Given the description of an element on the screen output the (x, y) to click on. 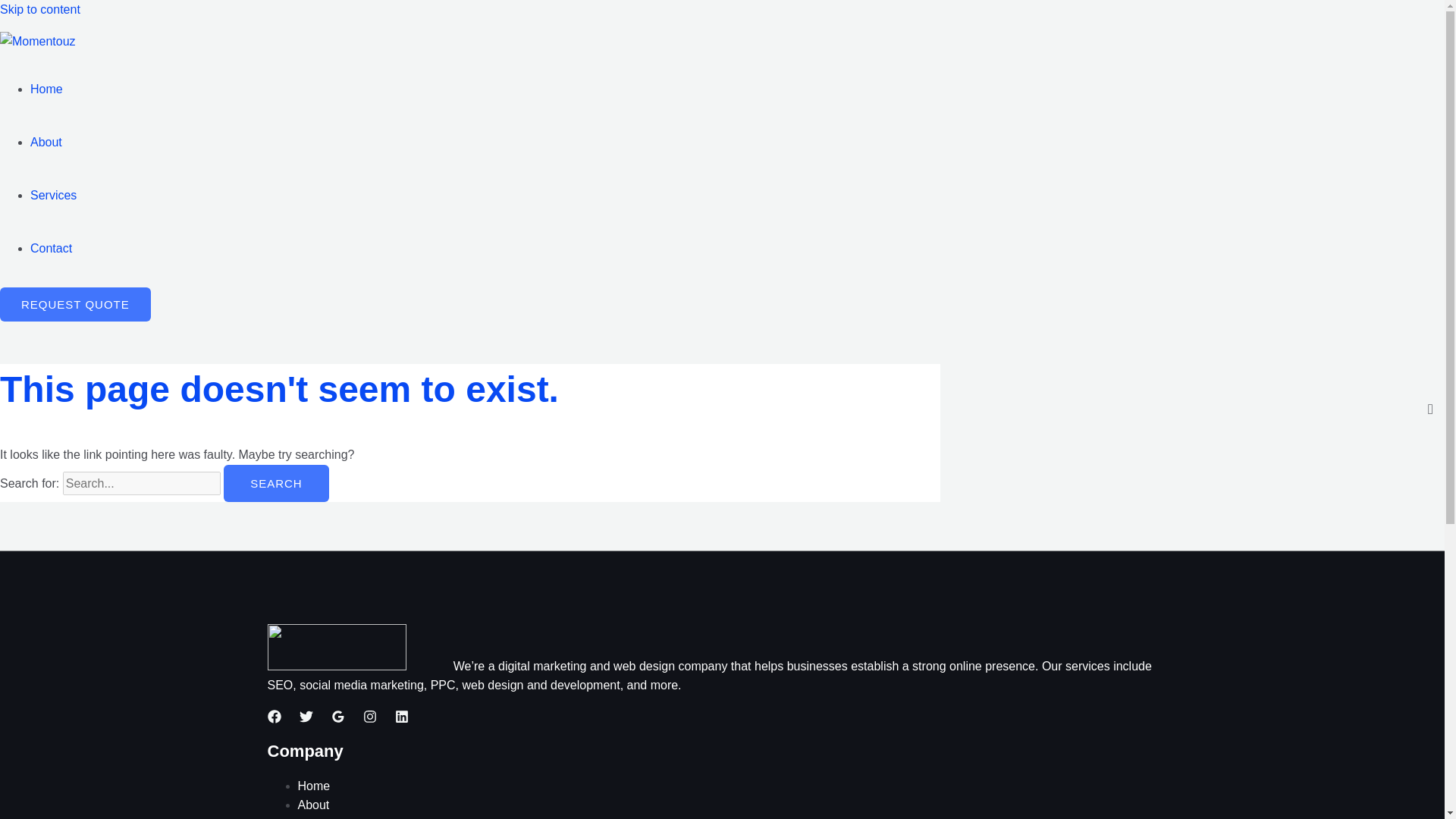
Search (276, 483)
Services (53, 195)
Home (313, 785)
REQUEST QUOTE (75, 304)
Home (46, 88)
Search (276, 483)
Skip to content (40, 9)
Search (276, 483)
About (46, 141)
Google Reviews (336, 718)
Contact (50, 247)
Skip to content (40, 9)
Google Reviews (336, 716)
Services (320, 818)
About (313, 804)
